Given the description of an element on the screen output the (x, y) to click on. 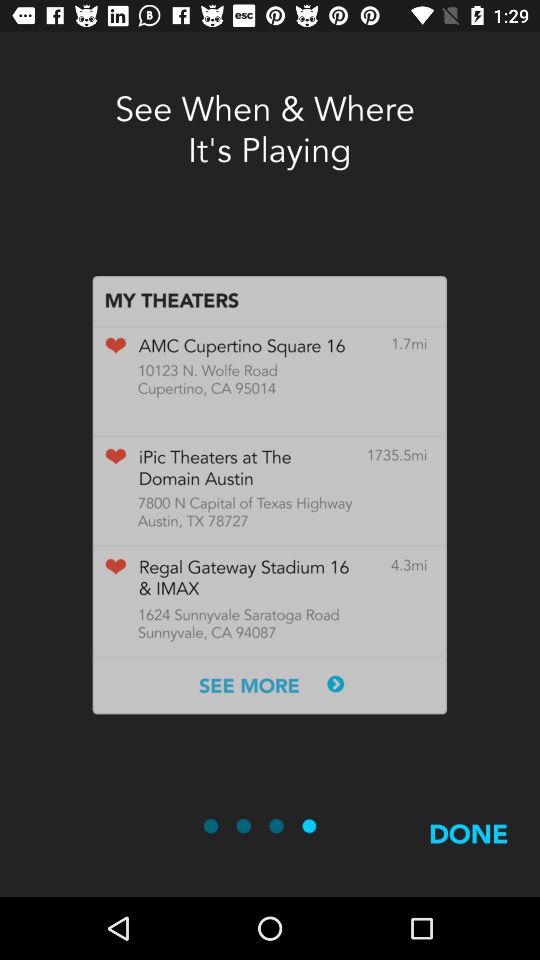
turn on the done (468, 857)
